Given the description of an element on the screen output the (x, y) to click on. 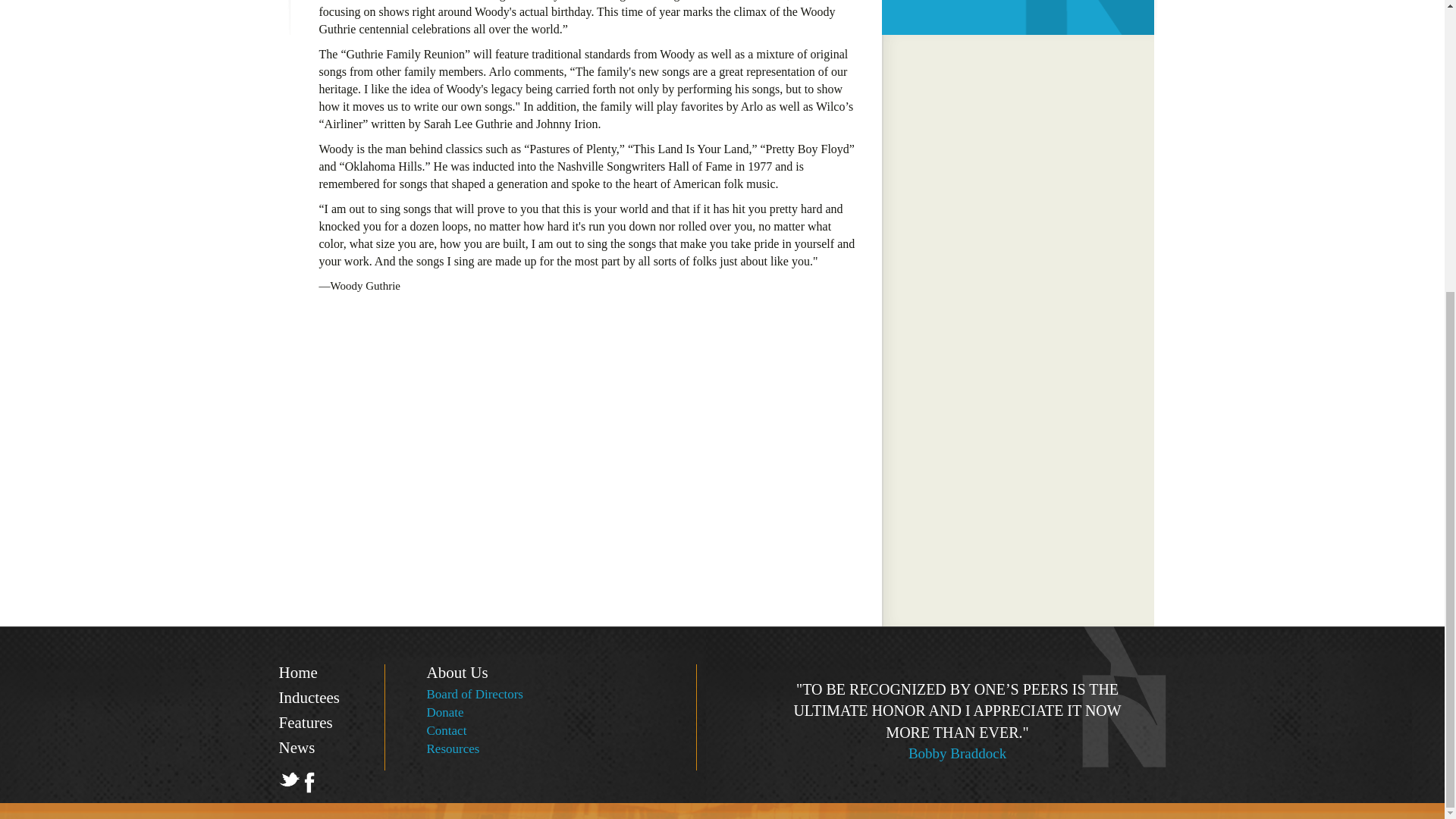
Board of Directors (474, 694)
News (297, 747)
Resources (452, 748)
Contact (445, 730)
Home (298, 672)
Features (306, 722)
About Us (456, 672)
Inductees (309, 697)
Donate (444, 712)
